Given the description of an element on the screen output the (x, y) to click on. 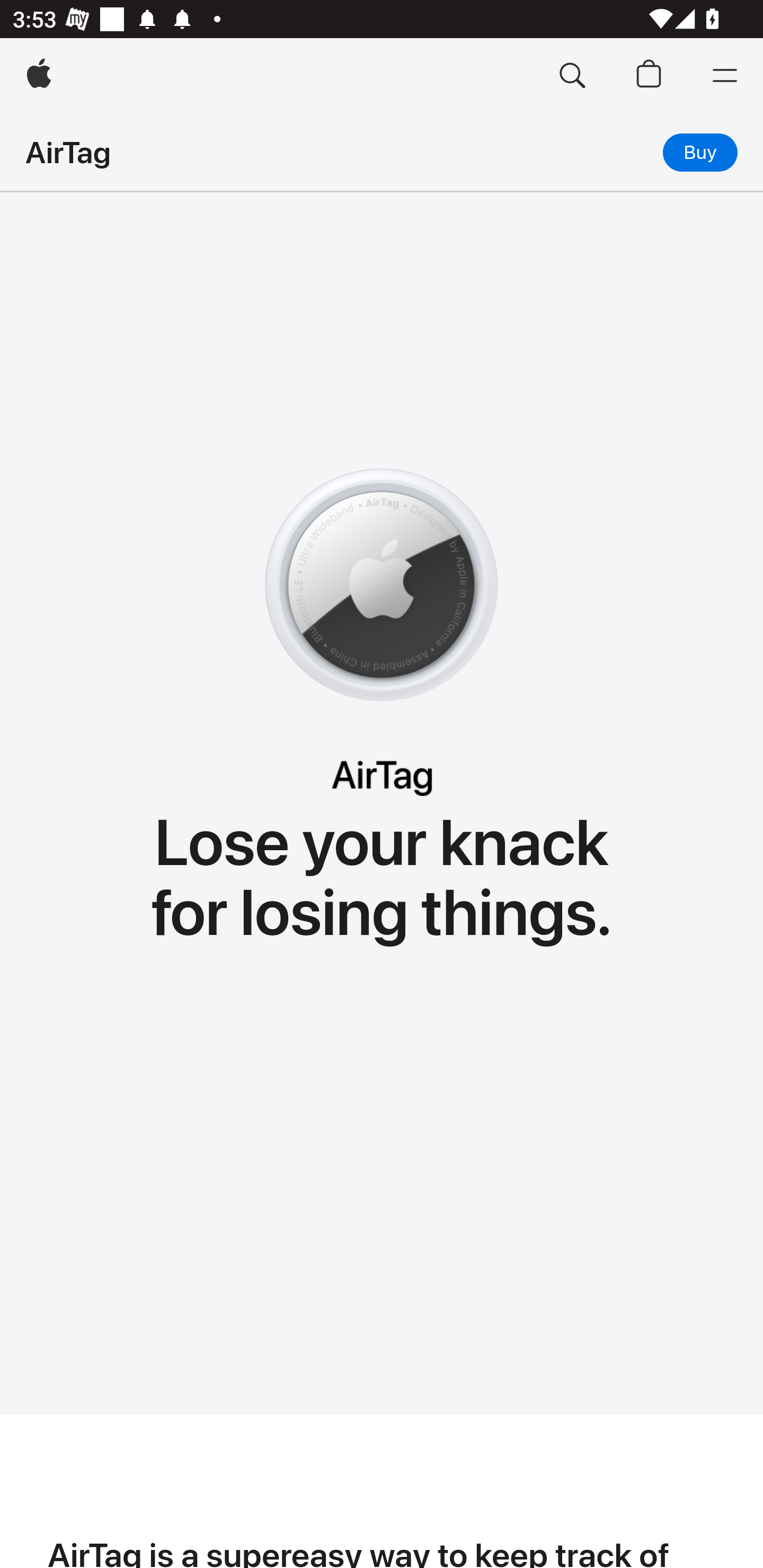
Apple (38, 75)
Search apple.com (572, 75)
Shopping Bag (648, 75)
Menu (724, 75)
AirTag (68, 151)
Buy AirTag Buy AirTag (700, 151)
